Given the description of an element on the screen output the (x, y) to click on. 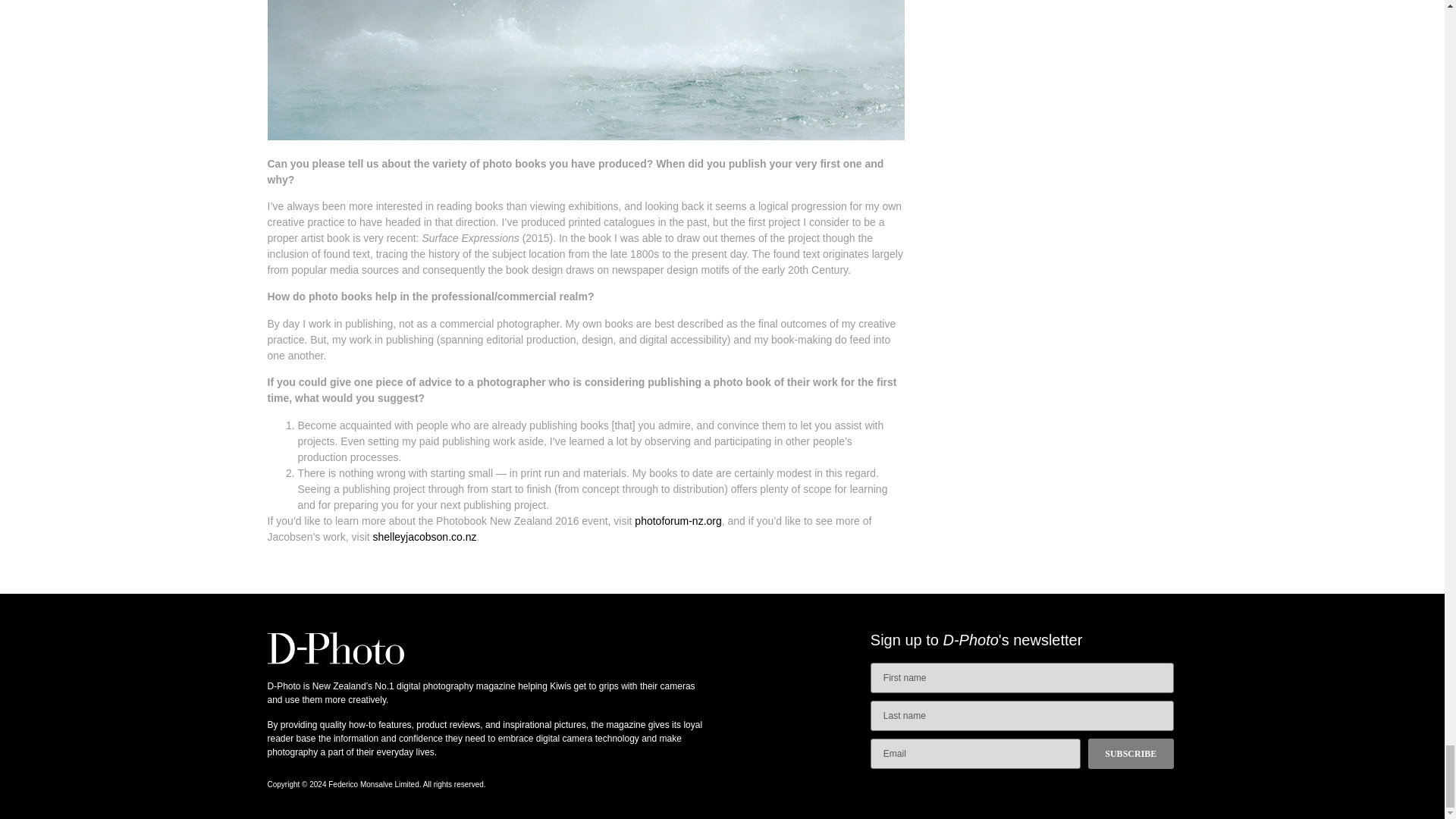
SUBSCRIBE (1130, 753)
s (375, 536)
helleyjacobson.co.nz (427, 536)
photoforum-nz.org (677, 521)
